Given the description of an element on the screen output the (x, y) to click on. 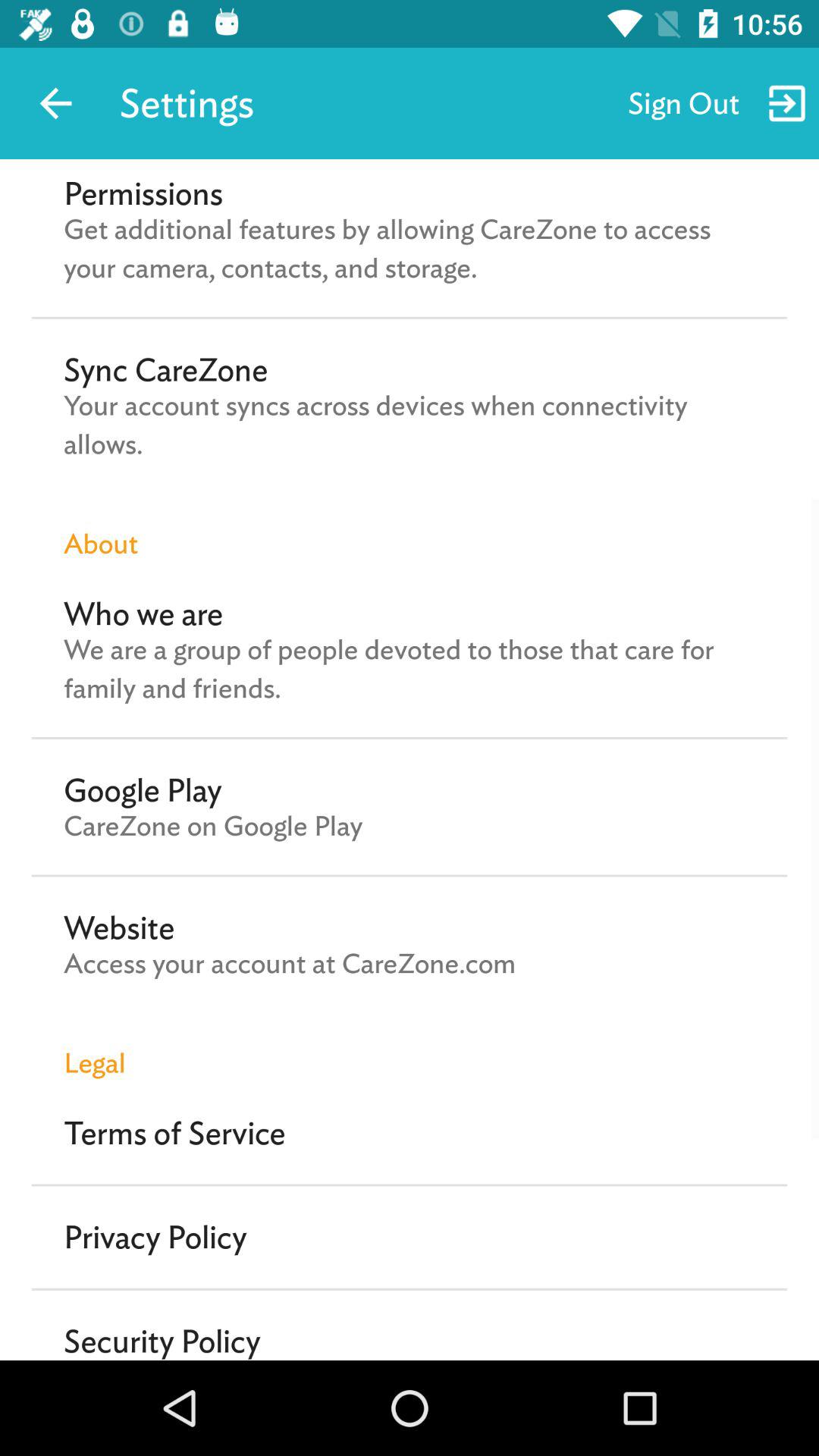
turn on icon above the access your account icon (118, 927)
